Given the description of an element on the screen output the (x, y) to click on. 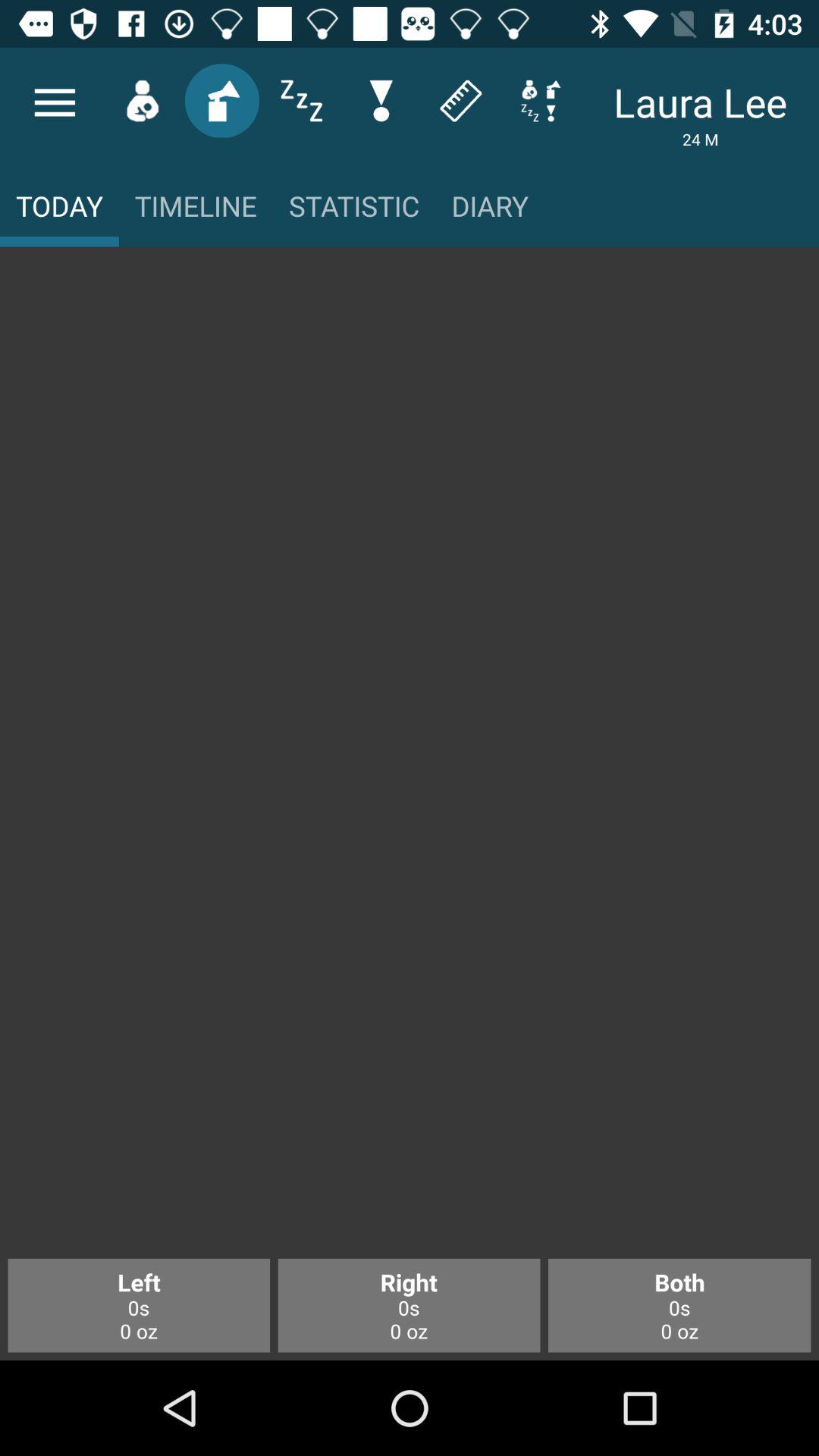
main body (409, 760)
